Given the description of an element on the screen output the (x, y) to click on. 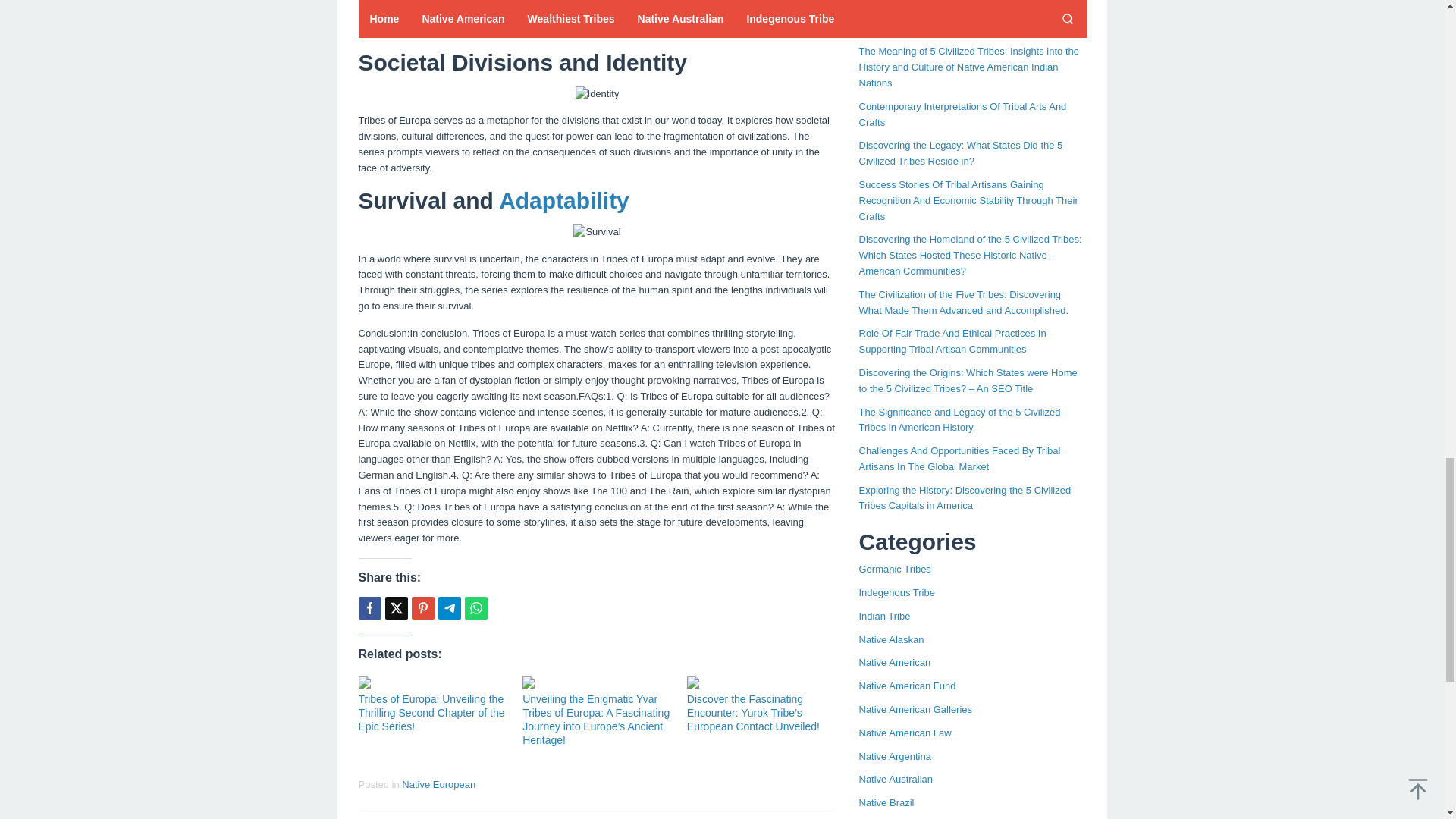
Native European (438, 784)
Telegram Share (449, 608)
Share this (369, 608)
Adaptability (563, 200)
Pin this (421, 608)
Whatsapp (475, 608)
Tweet this (396, 608)
